Given the description of an element on the screen output the (x, y) to click on. 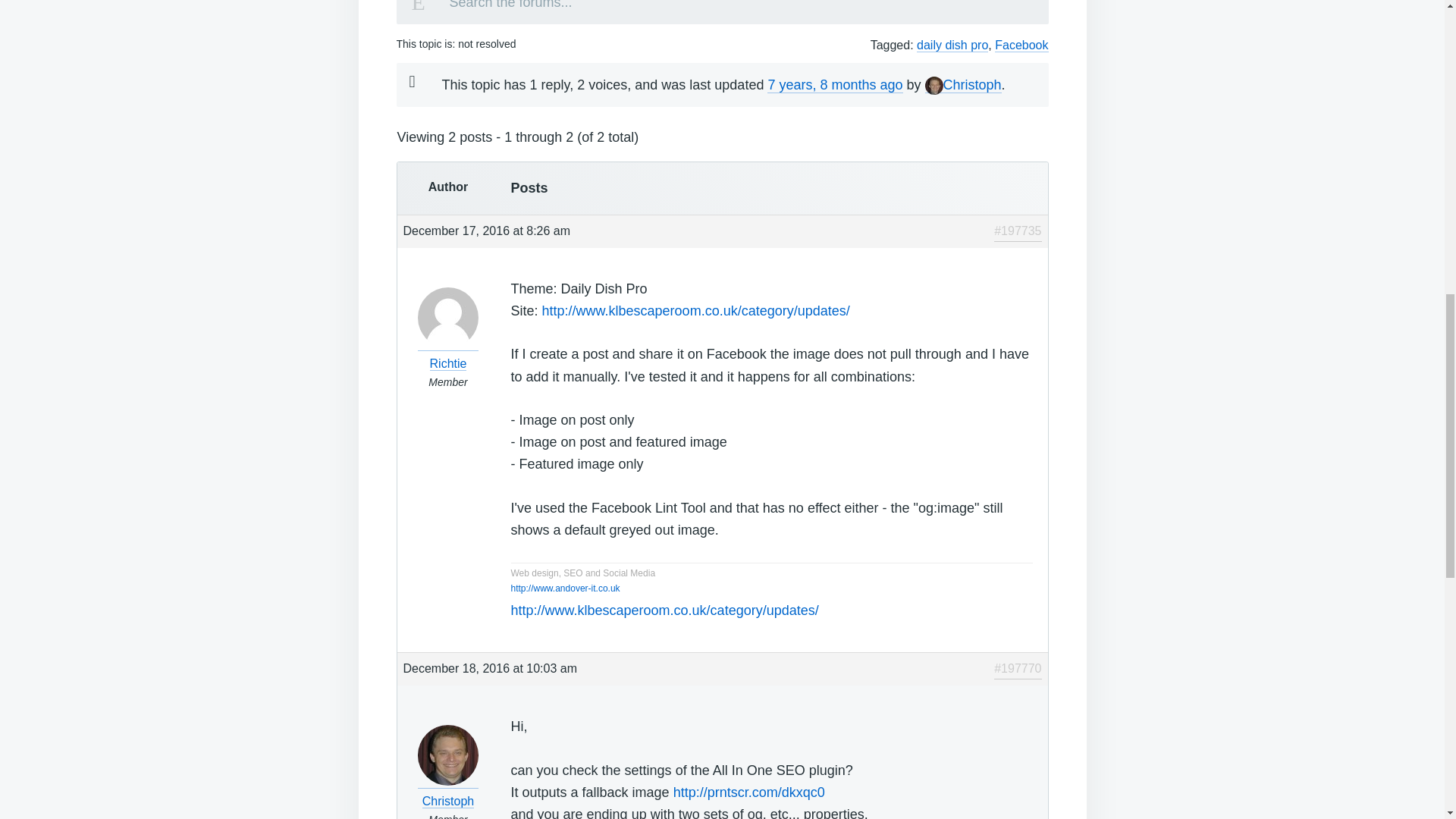
View Richtie's profile (448, 354)
7 years, 8 months ago (834, 84)
Facebook (1021, 45)
View Christoph's profile (448, 791)
View Christoph's profile (962, 84)
Click for the Andover IT website (565, 588)
Christoph (962, 84)
daily dish pro (952, 45)
Richtie (448, 354)
